Given the description of an element on the screen output the (x, y) to click on. 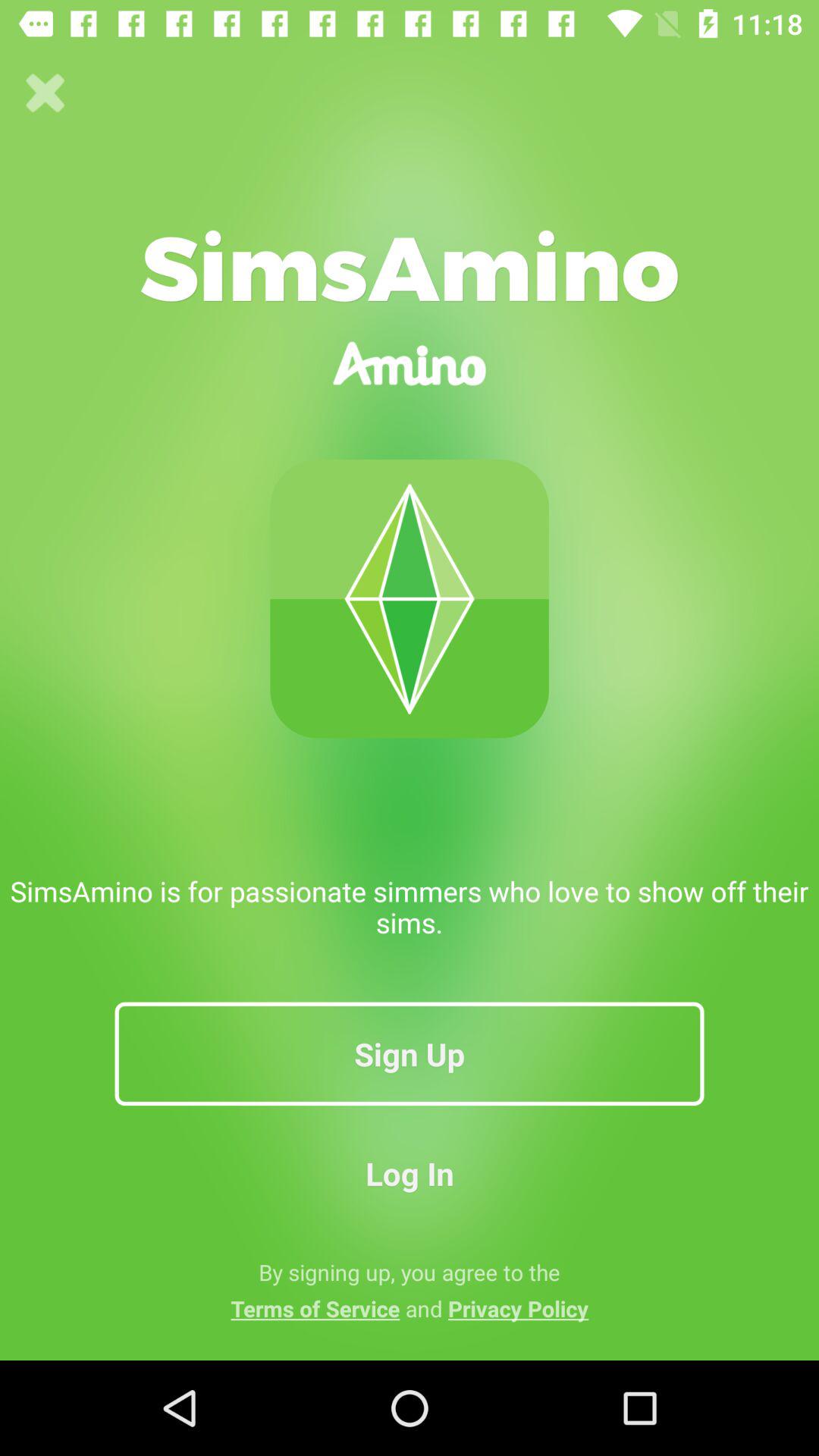
tap the terms of service (409, 1308)
